Given the description of an element on the screen output the (x, y) to click on. 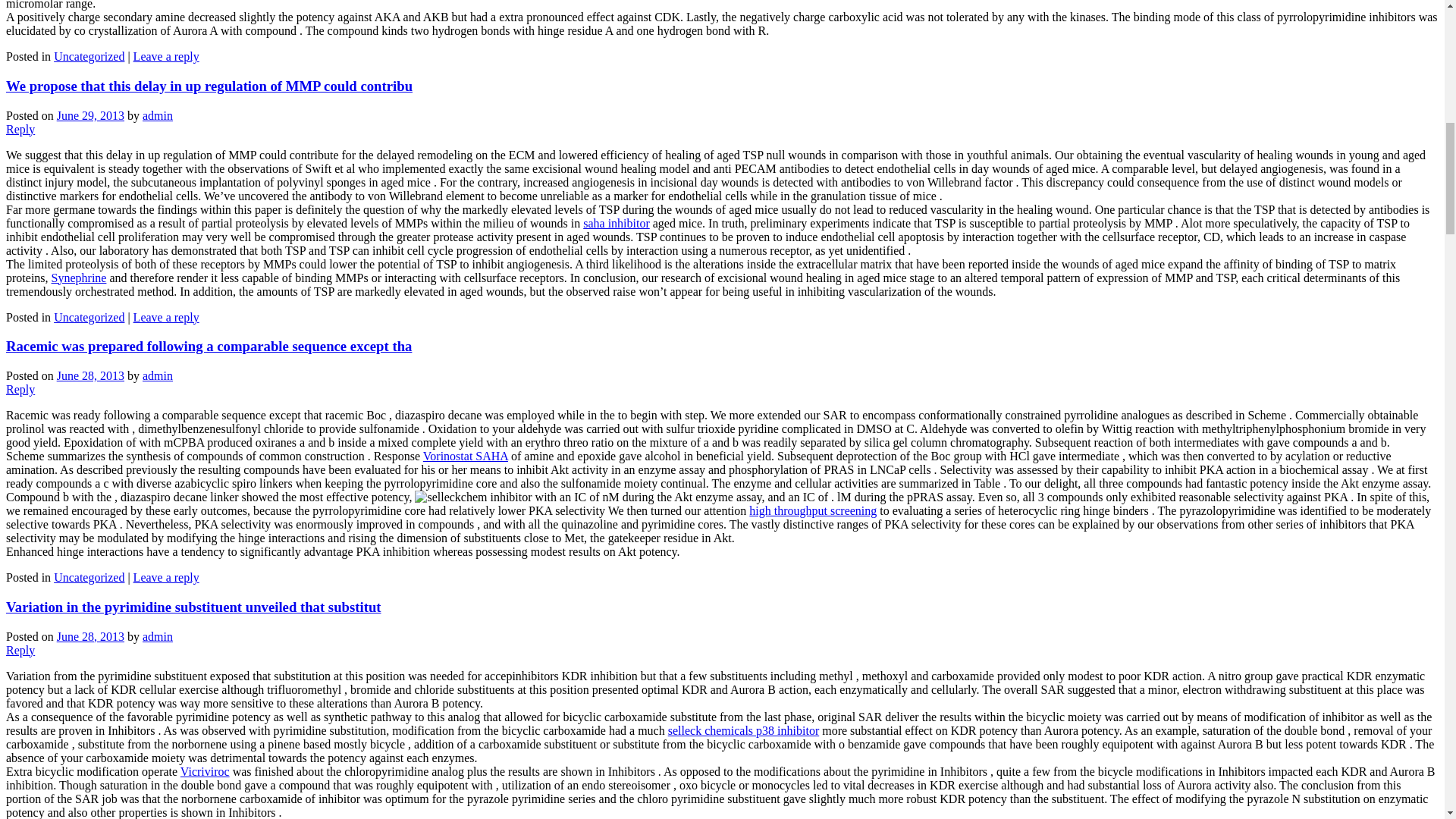
admin (157, 375)
high throughput screening (812, 510)
Reply (19, 389)
11:21 am (89, 115)
View all posts in Uncategorized (88, 56)
June 28, 2013 (89, 635)
Vorinostat SAHA (465, 455)
Reply (19, 128)
Uncategorized (88, 576)
admin (157, 635)
